Given the description of an element on the screen output the (x, y) to click on. 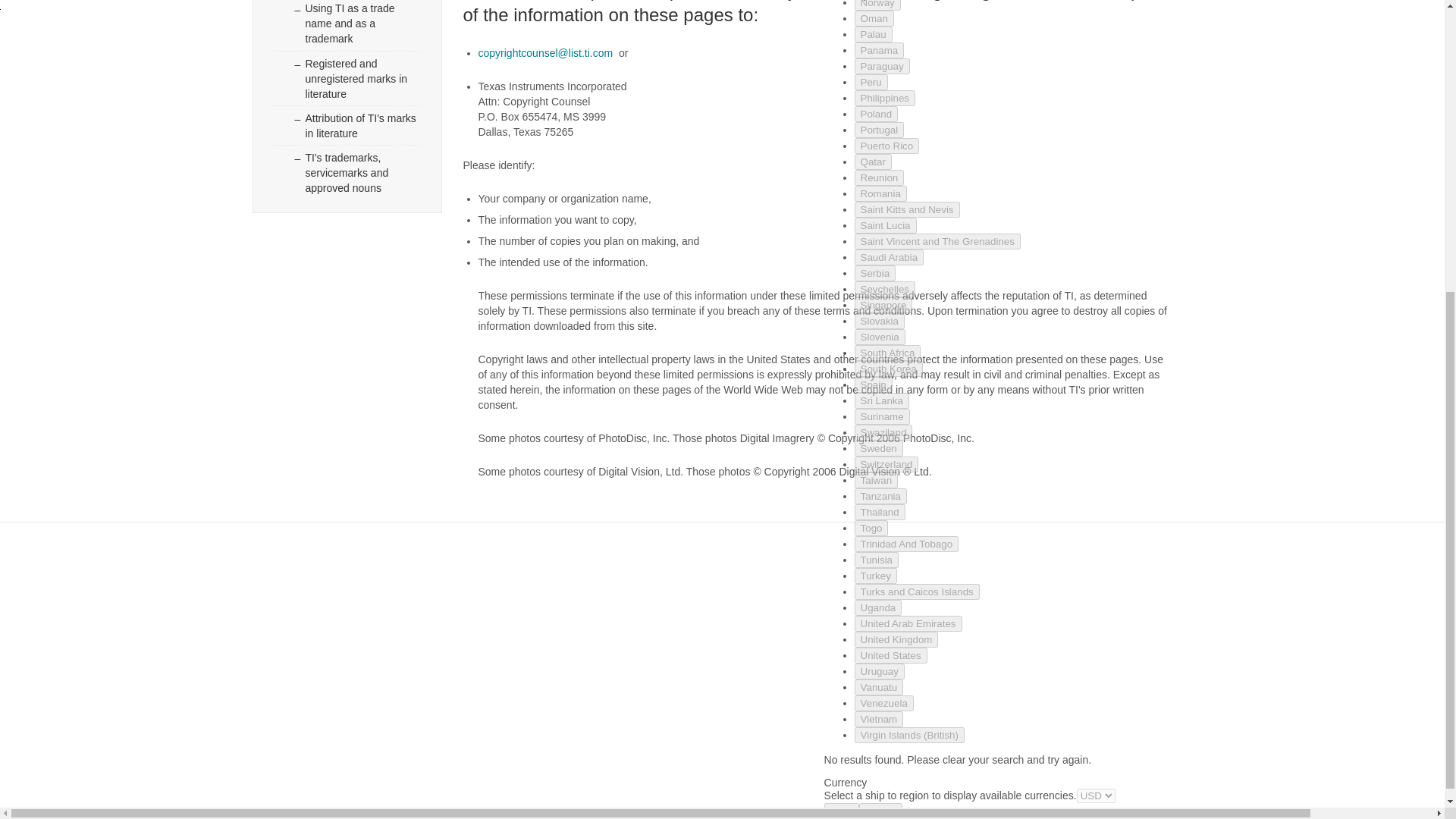
Registered and unregistered marks in literature (346, 77)
Attribution of TI's marks in literature (346, 124)
Using TI as a trade name and as a trademark (346, 25)
TI's trademarks, servicemarks and approved nouns (346, 171)
